Given the description of an element on the screen output the (x, y) to click on. 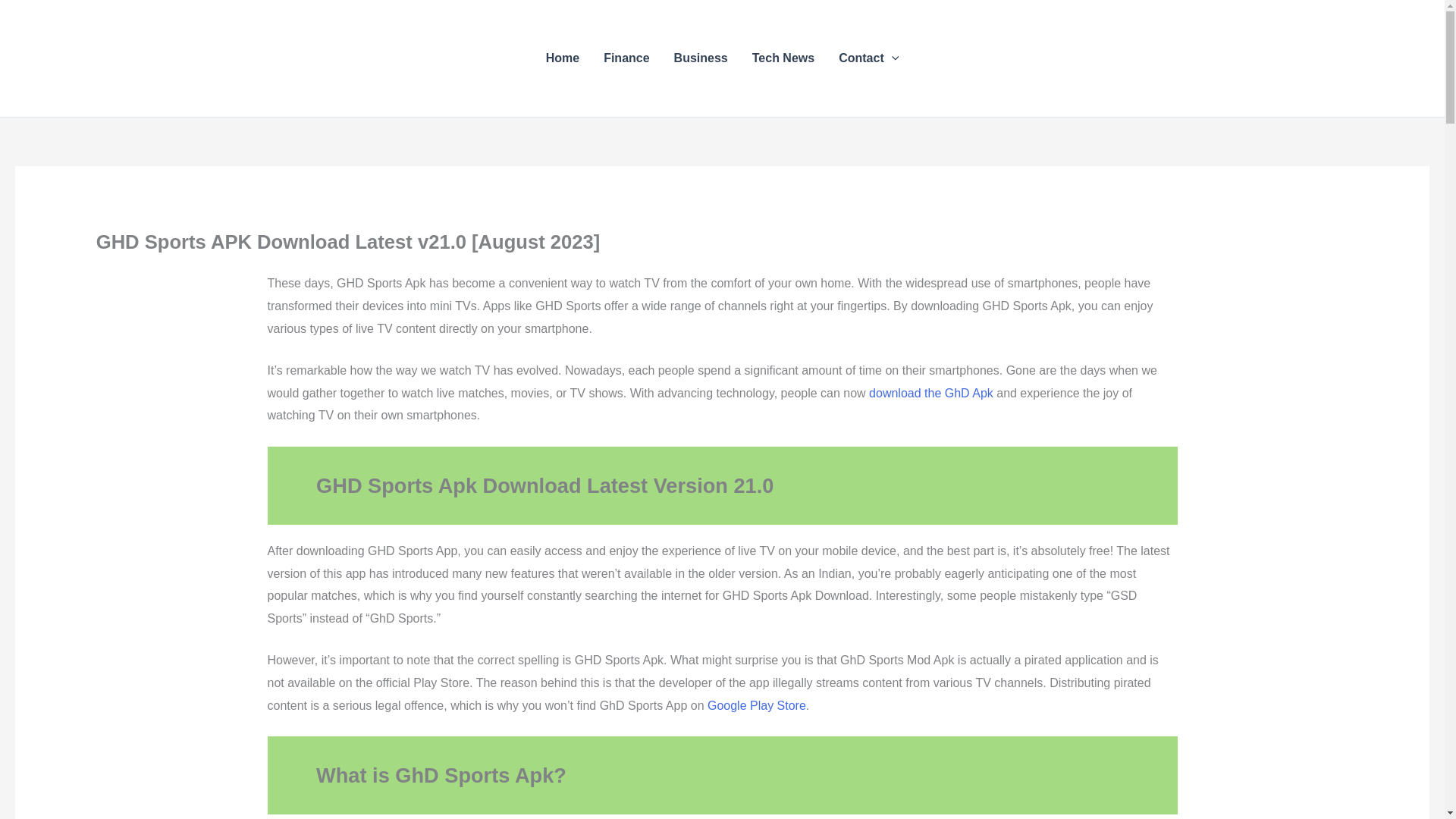
Business (700, 57)
Finance (626, 57)
Contact (869, 57)
Home (562, 57)
Google Play Store (756, 705)
Tech News (783, 57)
download the GhD Apk (930, 392)
